Given the description of an element on the screen output the (x, y) to click on. 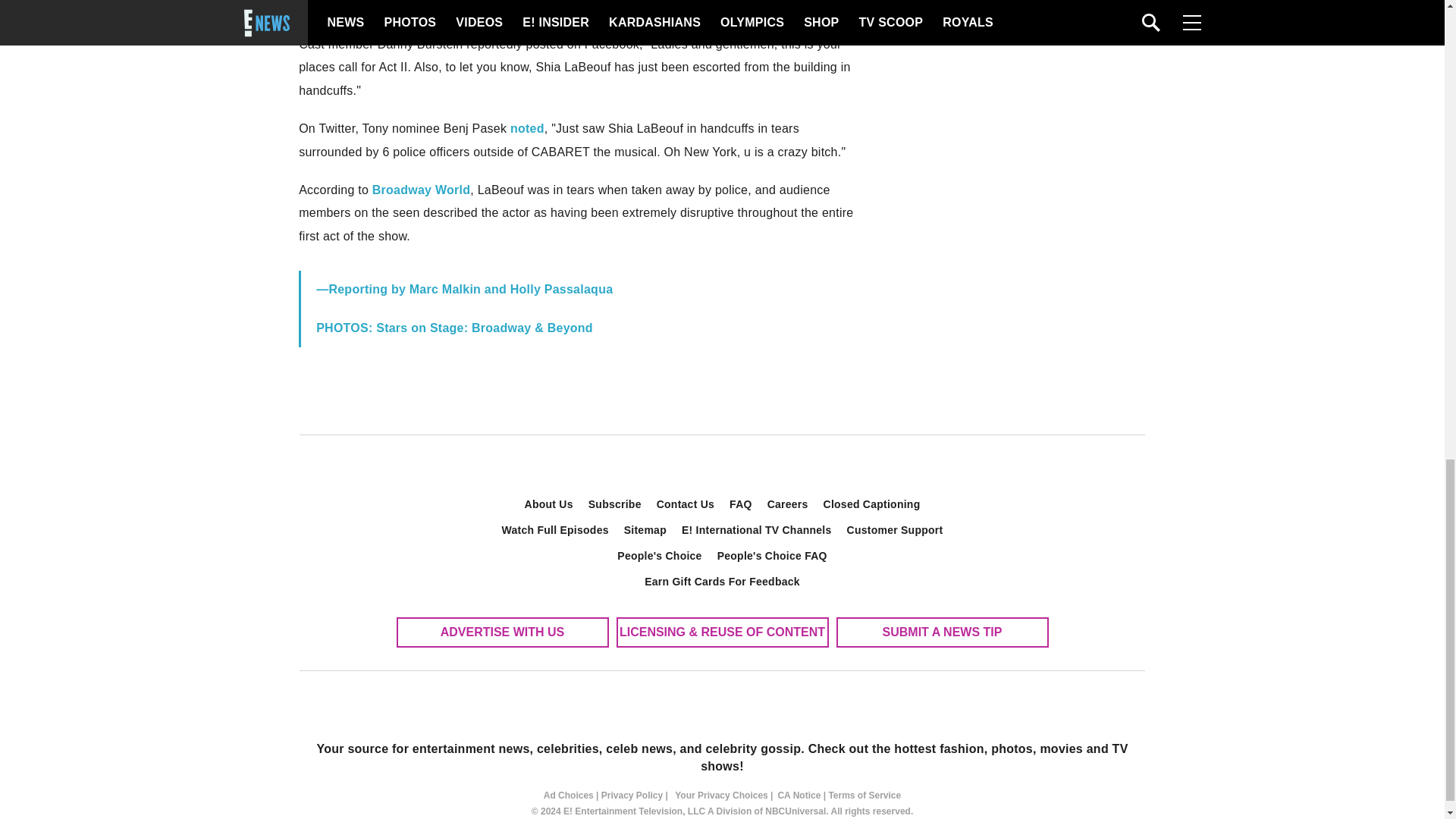
Subscribe (614, 503)
FAQ (741, 503)
Broadway World (421, 189)
noted (527, 128)
Contact Us (685, 503)
About Us (548, 503)
